Given the description of an element on the screen output the (x, y) to click on. 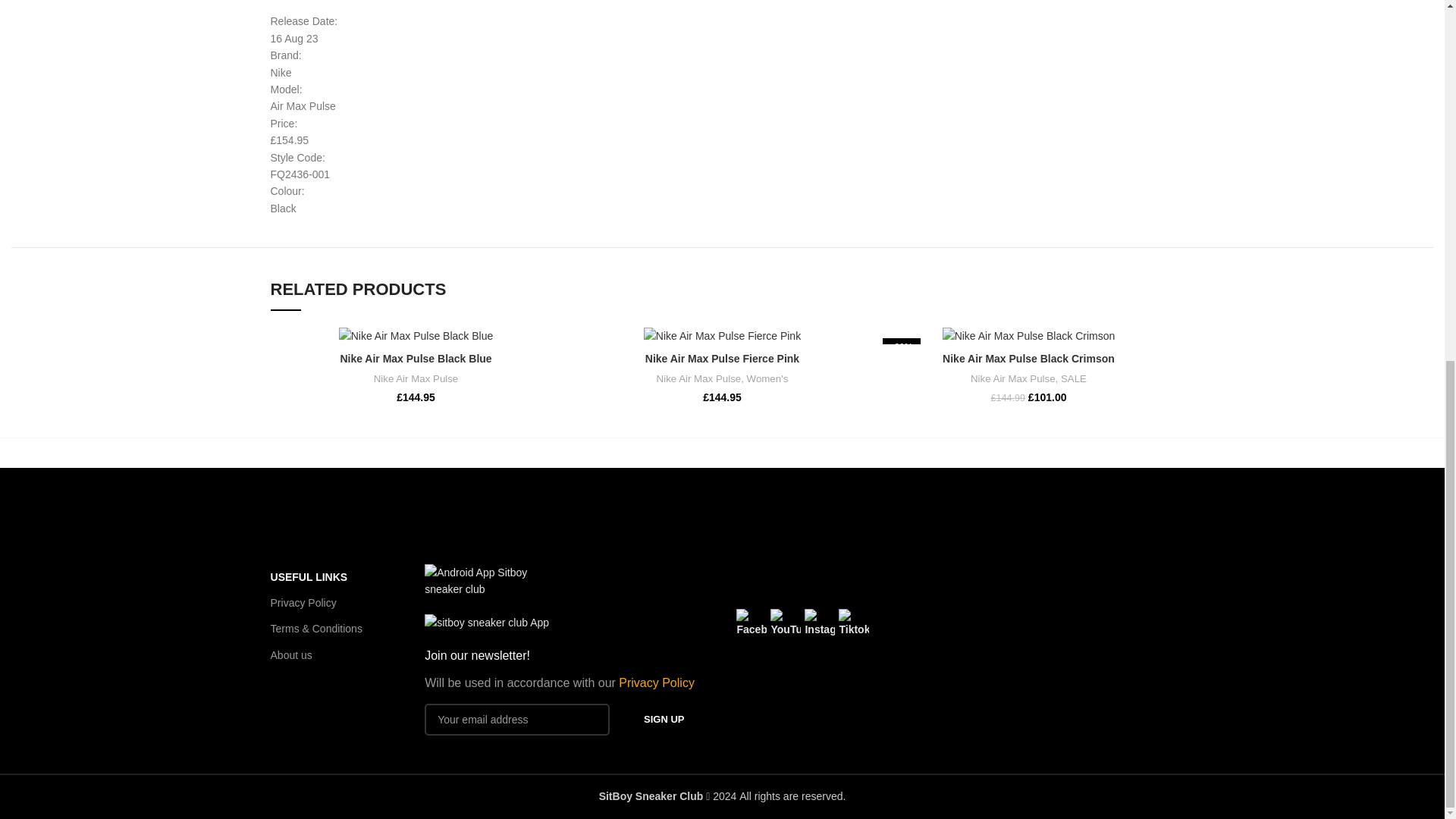
google-play-button (492, 581)
Instagram (819, 623)
Sign up (663, 719)
Facebook (751, 623)
sitboy sneaker club App (486, 622)
YouTube (785, 623)
